Given the description of an element on the screen output the (x, y) to click on. 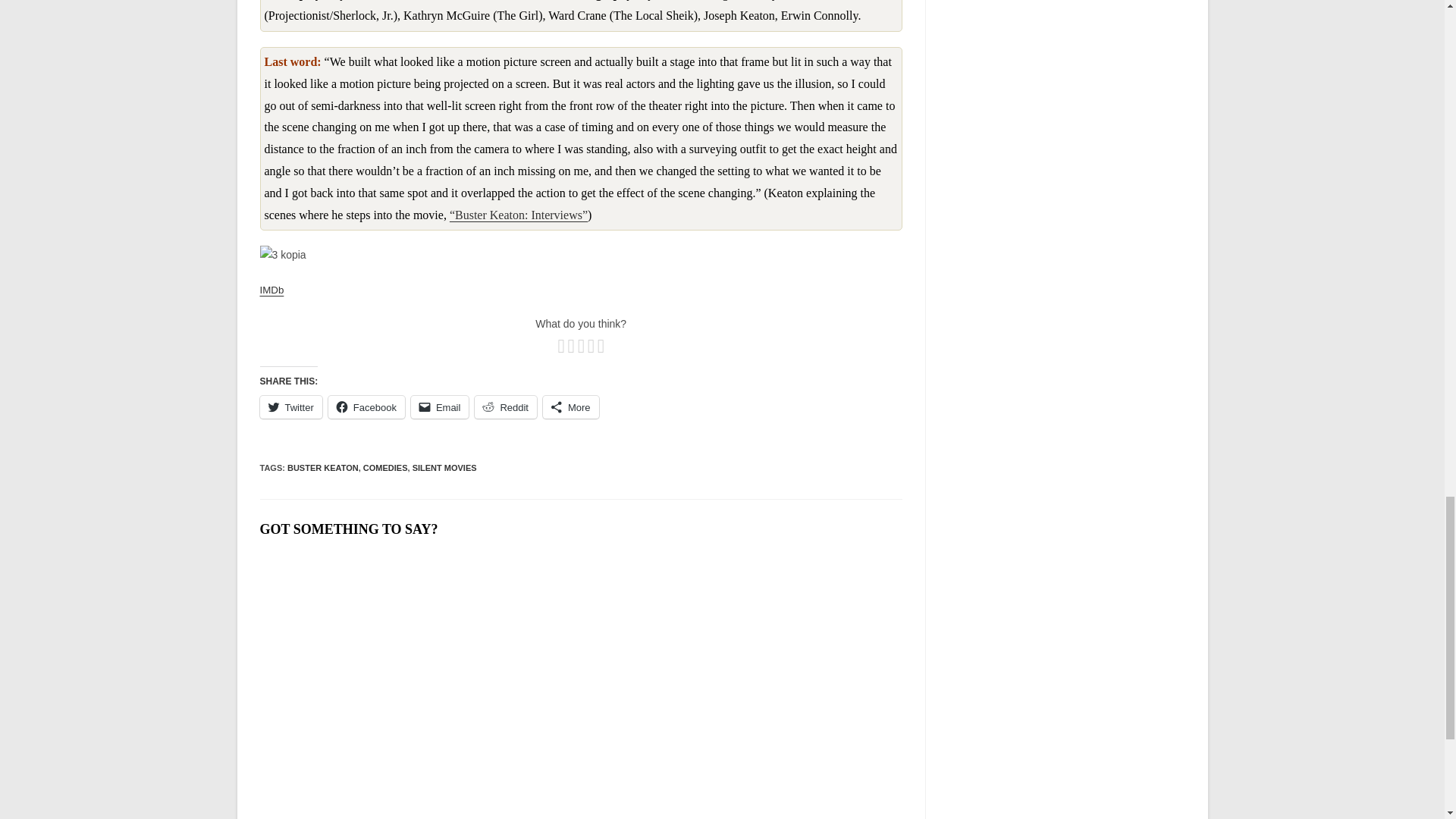
Click to share on Facebook (366, 406)
Click to email a link to a friend (439, 406)
Click to share on Reddit (505, 406)
Click to share on Twitter (290, 406)
